Given the description of an element on the screen output the (x, y) to click on. 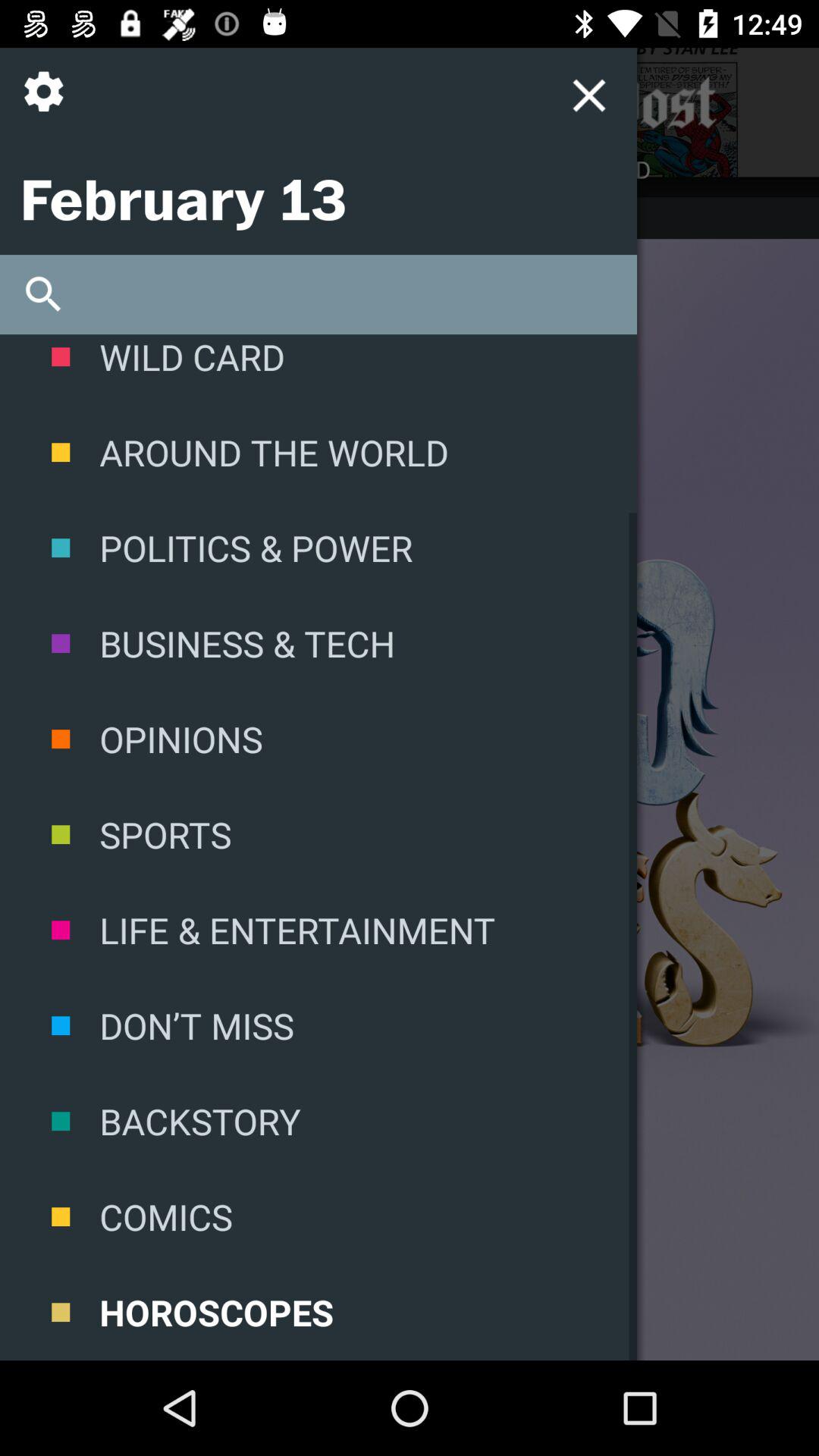
select backstory icon (318, 1121)
